Given the description of an element on the screen output the (x, y) to click on. 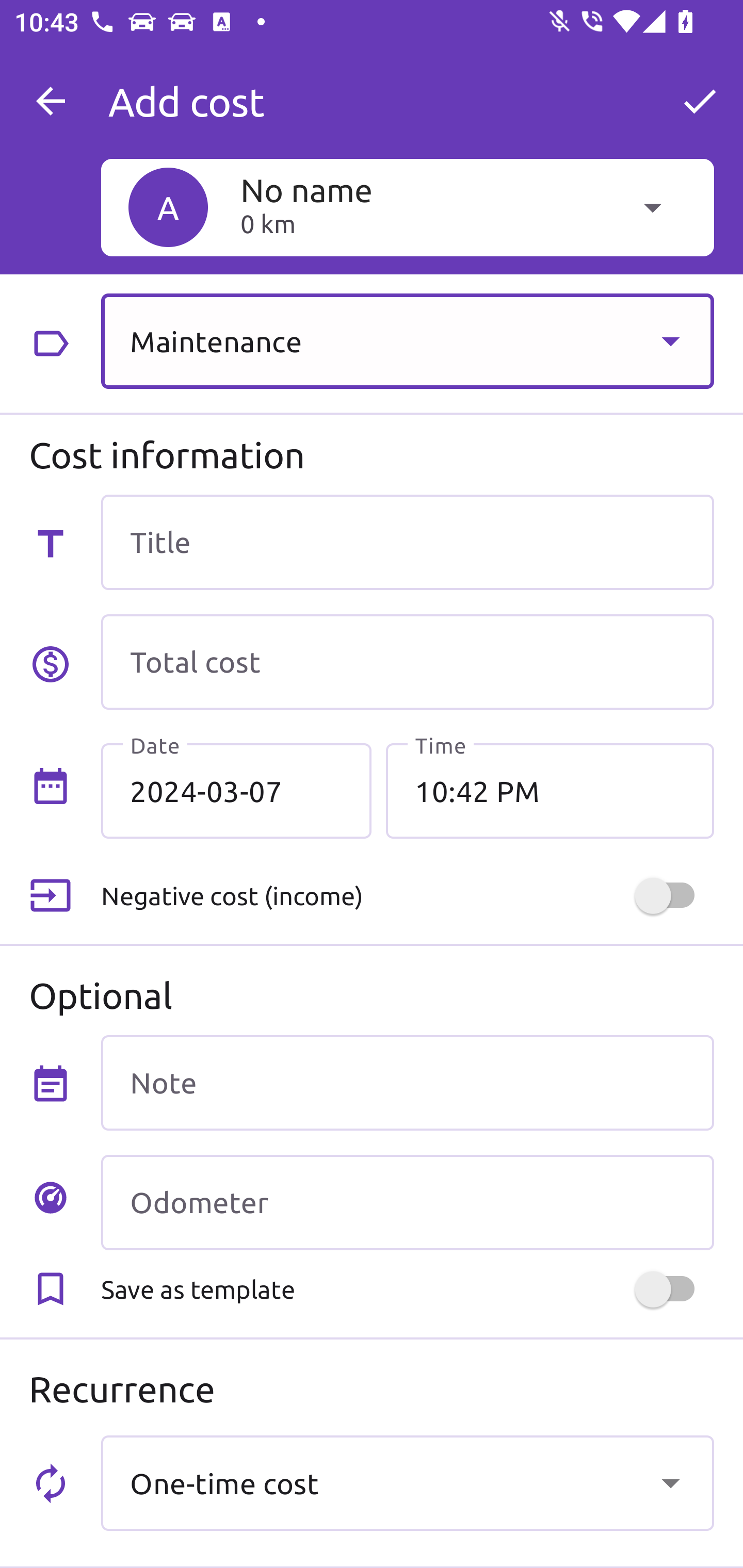
Navigate up (50, 101)
OK (699, 101)
A No name 0 km (407, 206)
Maintenance (407, 340)
Show dropdown menu (670, 340)
Title (407, 541)
Total cost  (407, 662)
2024-03-07 (236, 790)
10:42 PM (549, 790)
Negative cost (income) (407, 895)
Note (407, 1082)
Odometer (407, 1202)
Save as template (407, 1289)
One-time cost (407, 1482)
Show dropdown menu (670, 1482)
